Given the description of an element on the screen output the (x, y) to click on. 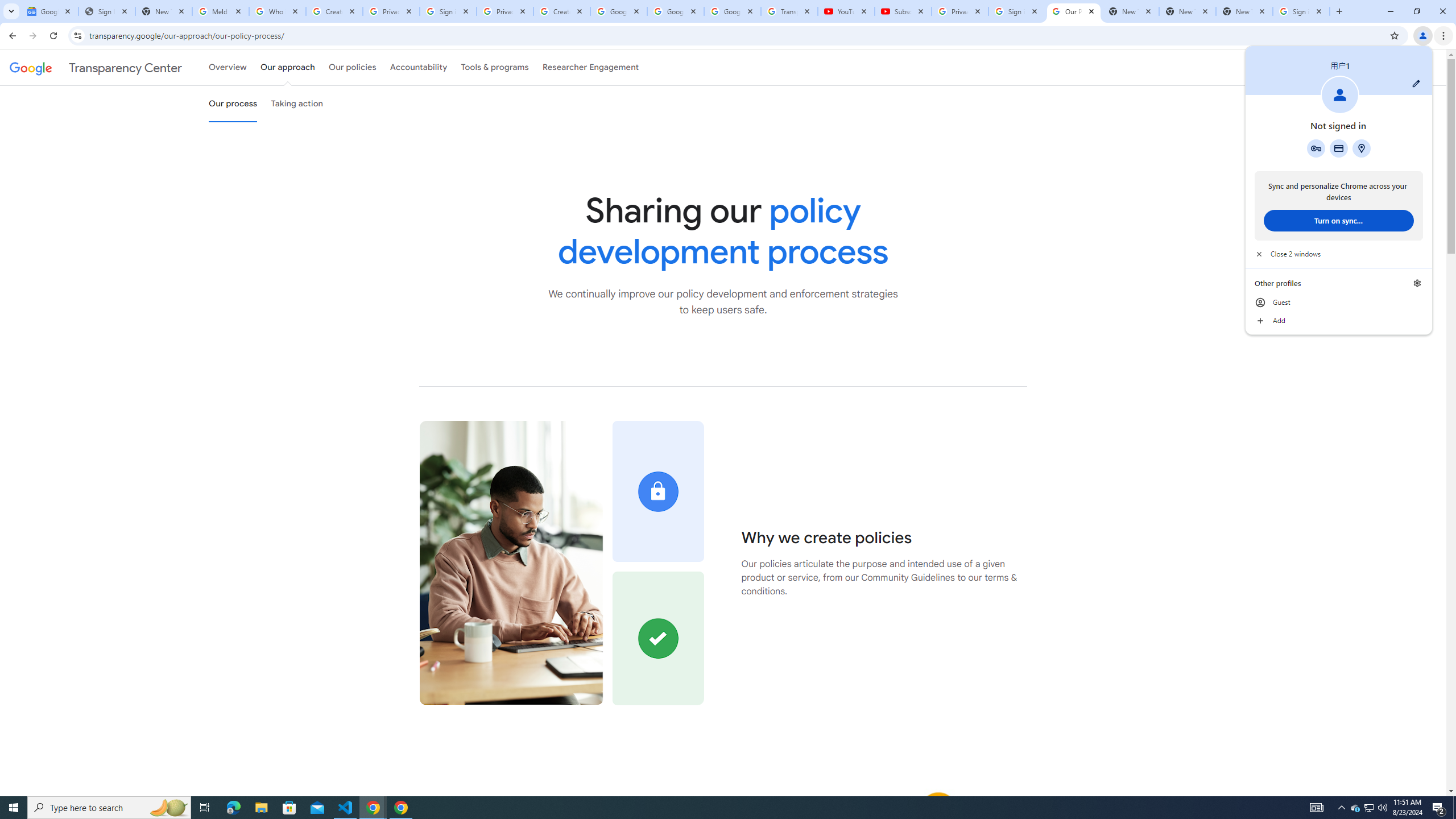
Start (13, 807)
Transparency Center (95, 67)
Action Center, 2 new notifications (1439, 807)
Addresses and more (1361, 148)
Type here to search (108, 807)
Subscriptions - YouTube (902, 11)
Visual Studio Code - 1 running window (345, 807)
Guest (1338, 302)
Show desktop (1454, 807)
Accountability (418, 67)
Add (1338, 321)
Google News (49, 11)
